Given the description of an element on the screen output the (x, y) to click on. 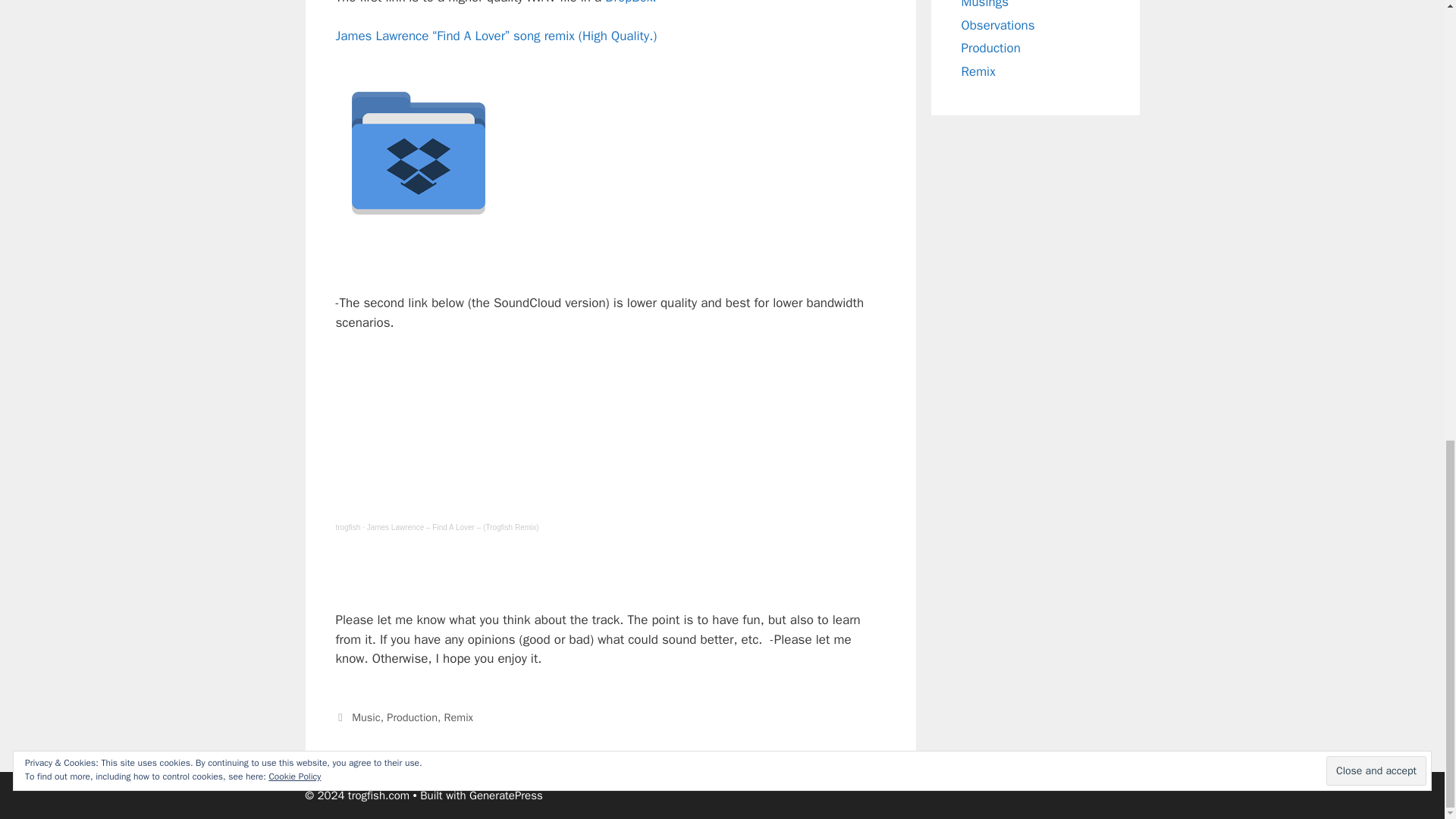
trogfish (346, 527)
Remix (977, 70)
Observations (997, 25)
trogfish (346, 527)
Production (412, 716)
Music (366, 716)
Musings (984, 4)
GeneratePress (505, 795)
Remix (458, 716)
Production (990, 48)
DropBox. (630, 2)
